Given the description of an element on the screen output the (x, y) to click on. 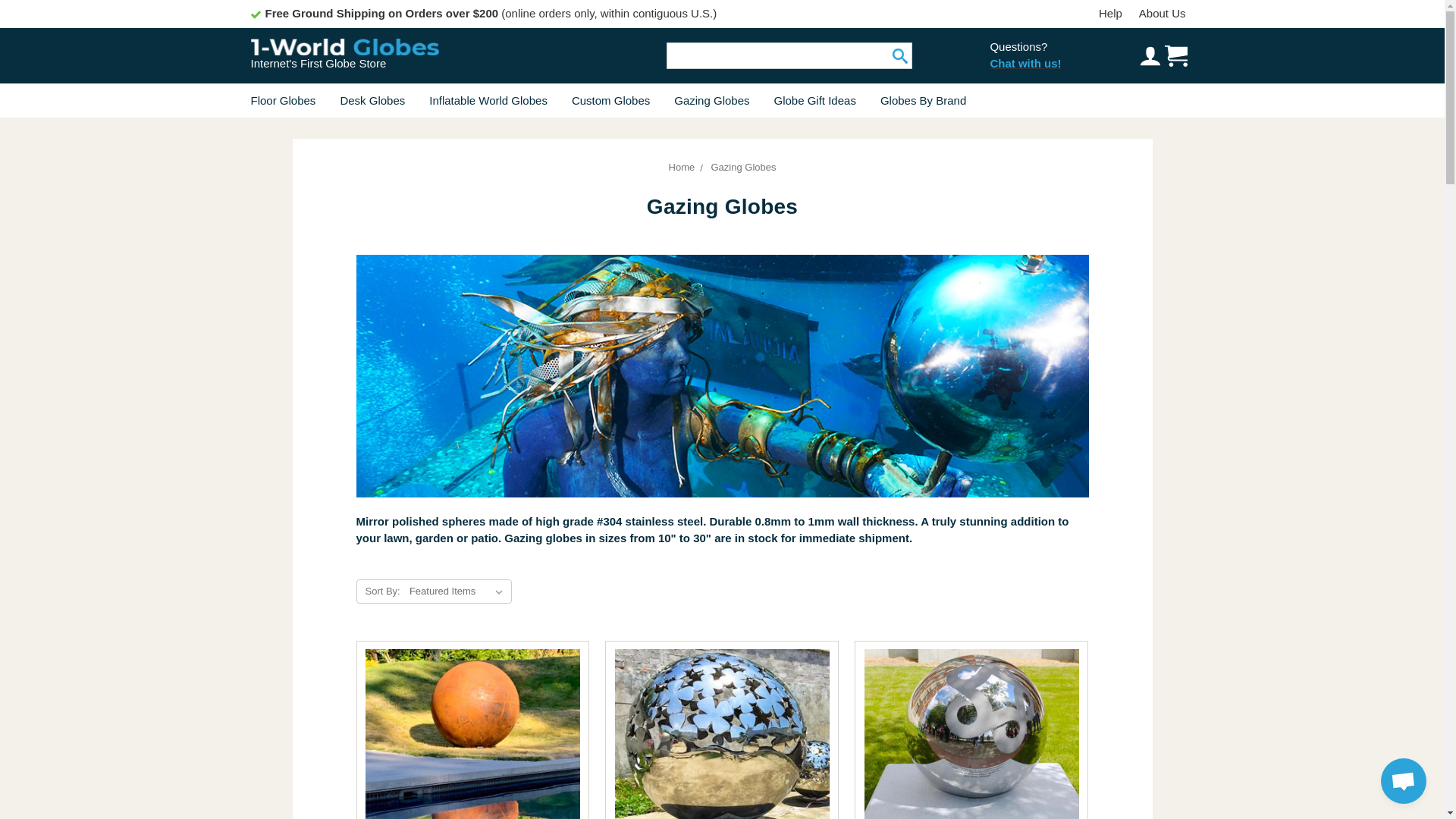
Large Mild Steel Balls (472, 730)
Help (1110, 13)
Chat with us! (1025, 63)
1-World Globes (344, 46)
About Us (1162, 13)
